Given the description of an element on the screen output the (x, y) to click on. 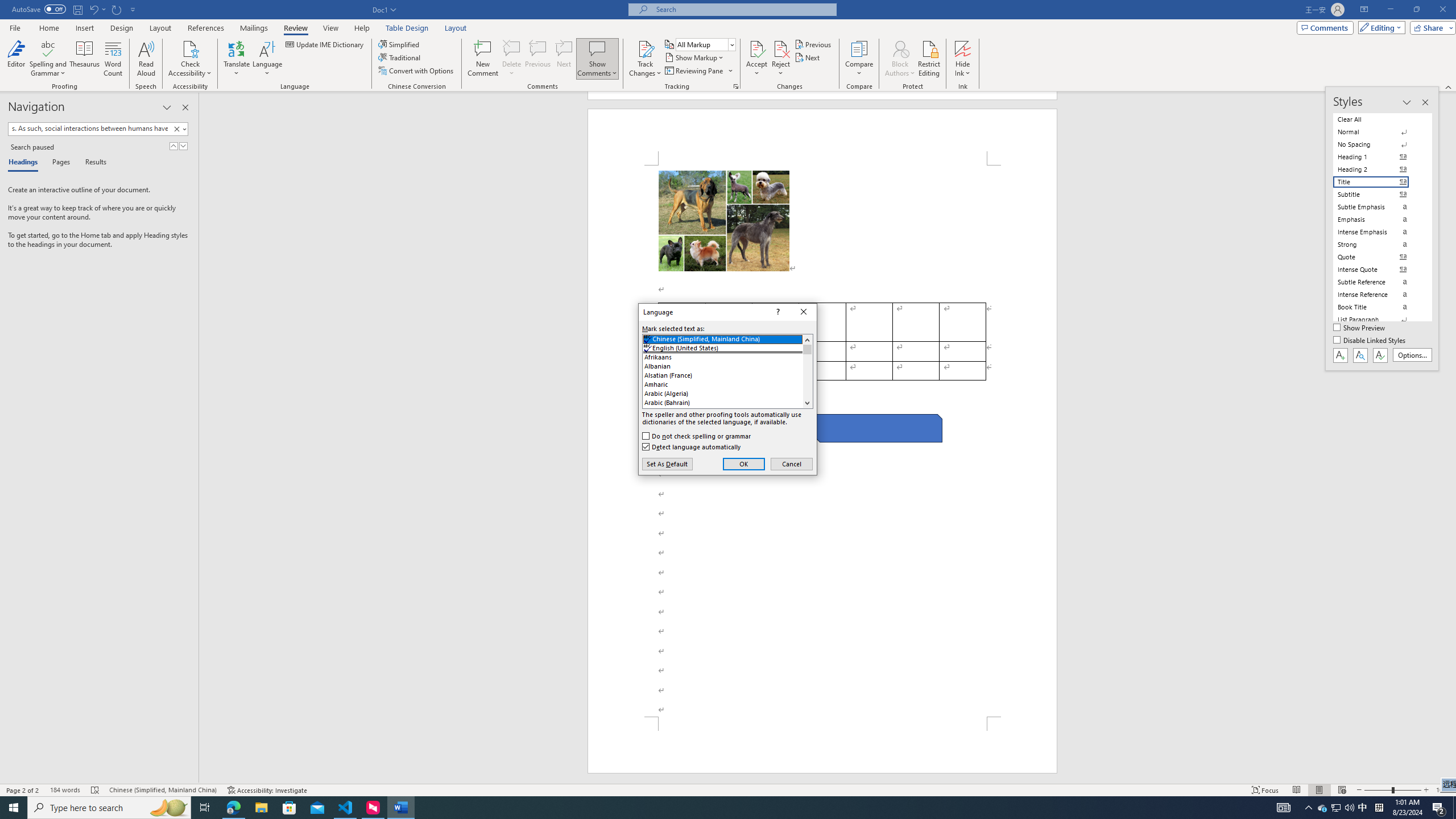
Track Changes (644, 48)
Line down (807, 402)
New Comment (482, 58)
English (United States) (727, 347)
